Given the description of an element on the screen output the (x, y) to click on. 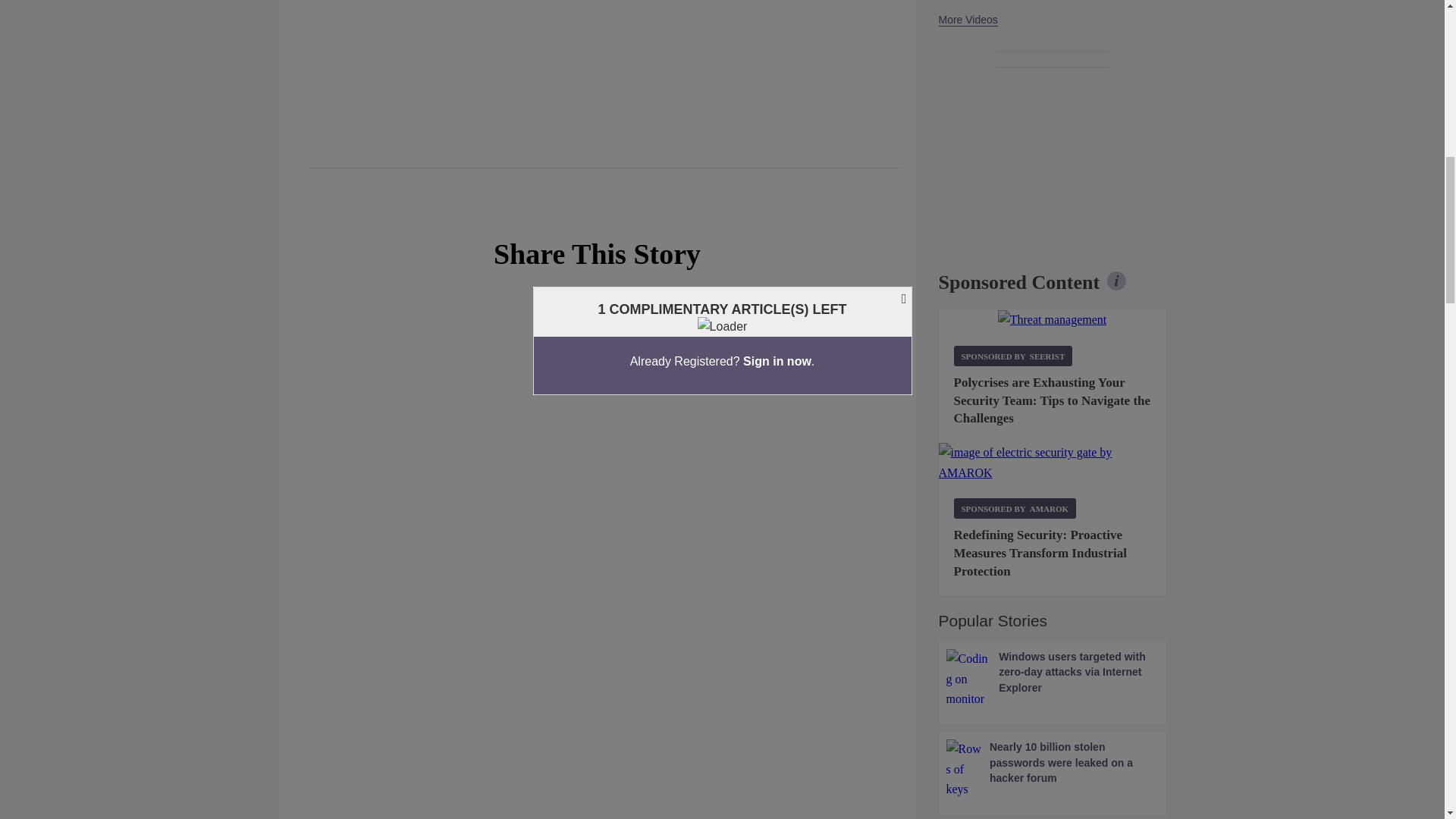
Sponsored by AMAROK (1015, 507)
AMAROK Security Gate (1052, 463)
Threat management (1051, 320)
Interaction questions (597, 426)
Sponsored by Seerist (1013, 355)
